Given the description of an element on the screen output the (x, y) to click on. 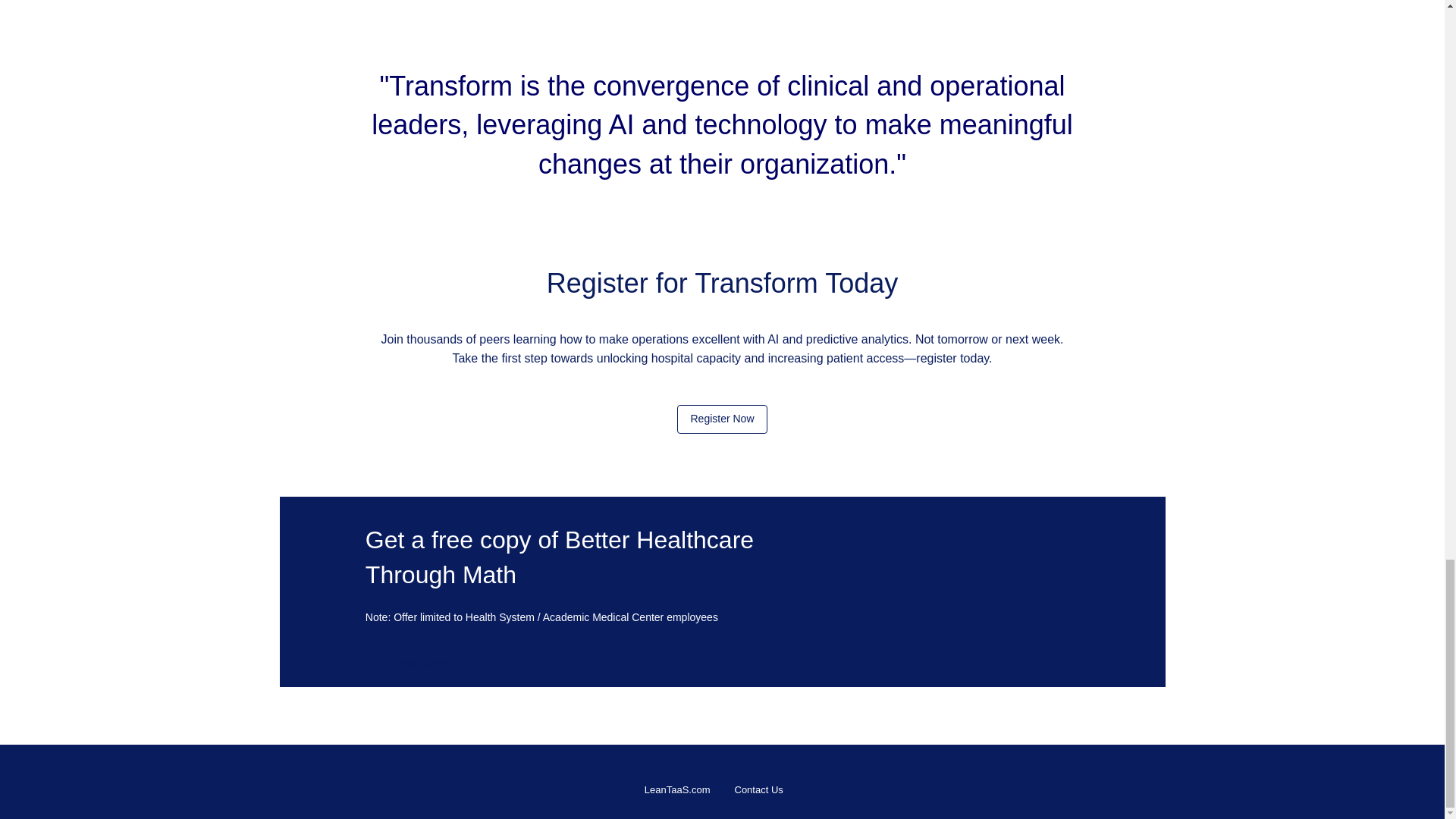
Contact Us (758, 789)
LeanTaaS.com (677, 789)
Register Now (722, 419)
Get Your Copy (412, 664)
